Given the description of an element on the screen output the (x, y) to click on. 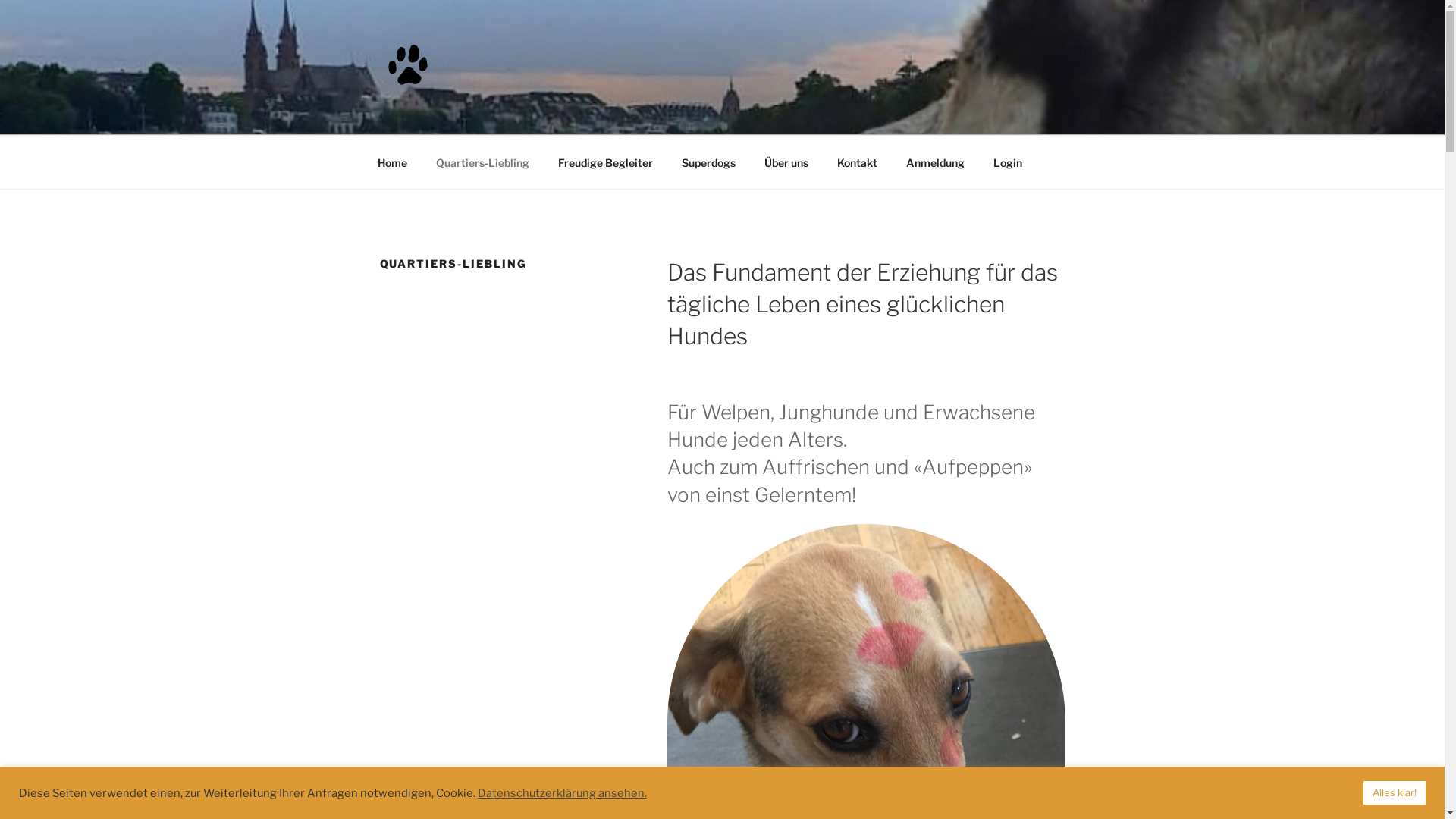
CANIS BASILEA Element type: text (502, 114)
Login Element type: text (1007, 162)
Home Element type: text (392, 162)
Freudige Begleiter Element type: text (604, 162)
Quartiers-Liebling Element type: text (482, 162)
Kontakt Element type: text (856, 162)
Anmeldung Element type: text (935, 162)
Alles klar! Element type: text (1394, 792)
Superdogs Element type: text (708, 162)
